Given the description of an element on the screen output the (x, y) to click on. 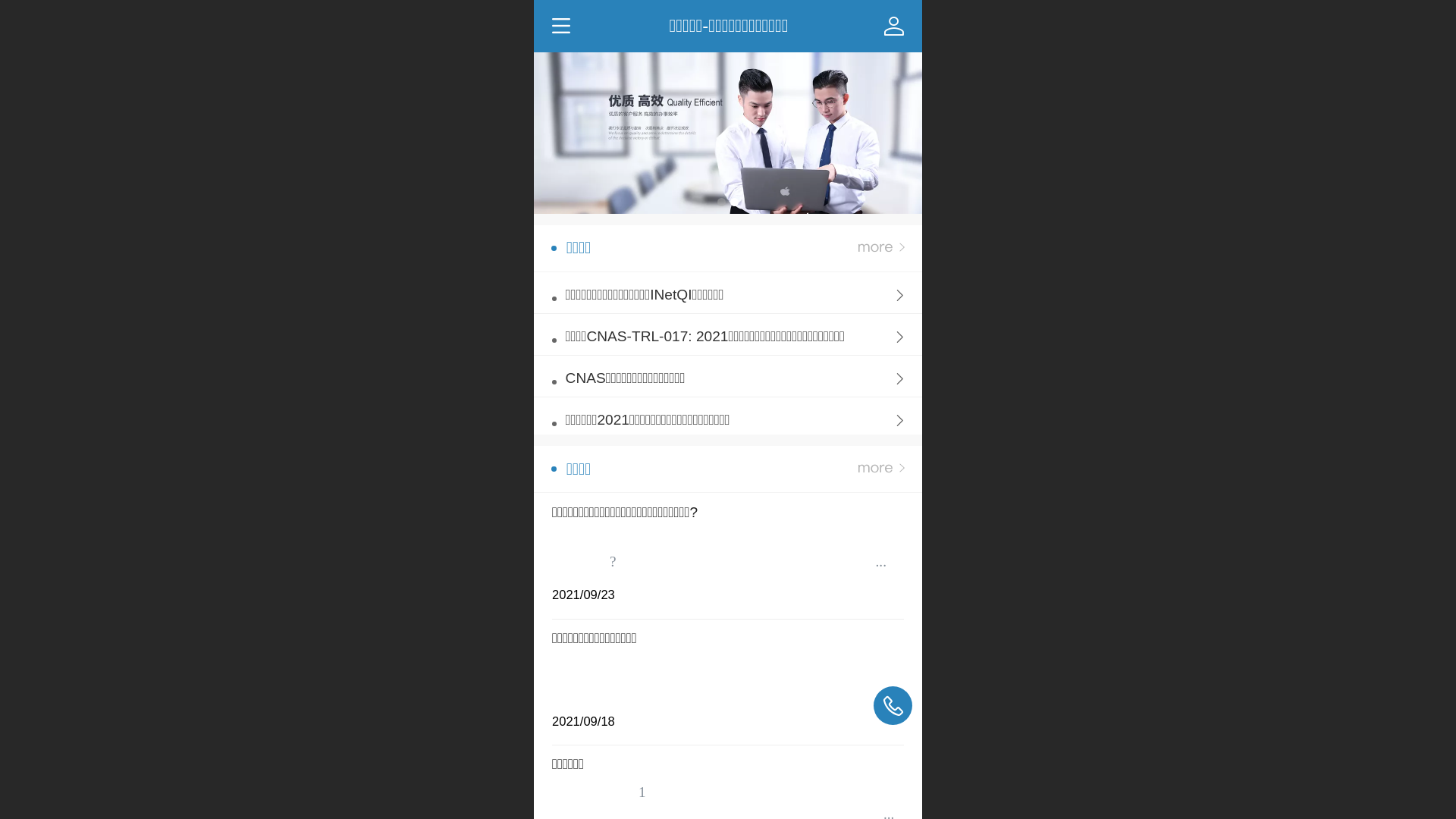
2021/09/23 Element type: text (727, 589)
2021/09/18 Element type: text (727, 715)
